Given the description of an element on the screen output the (x, y) to click on. 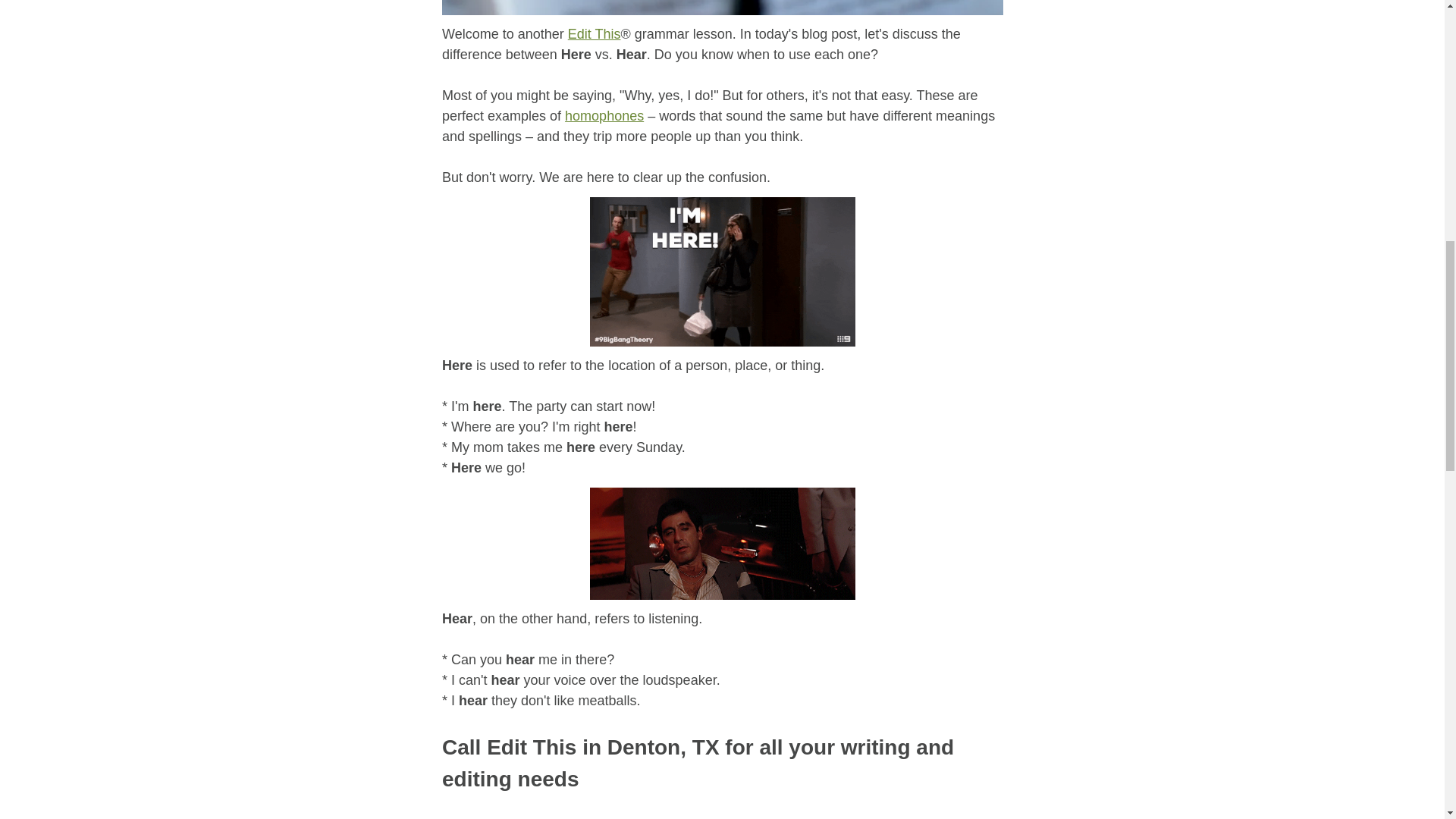
Edit This (593, 33)
homophones (603, 115)
